Given the description of an element on the screen output the (x, y) to click on. 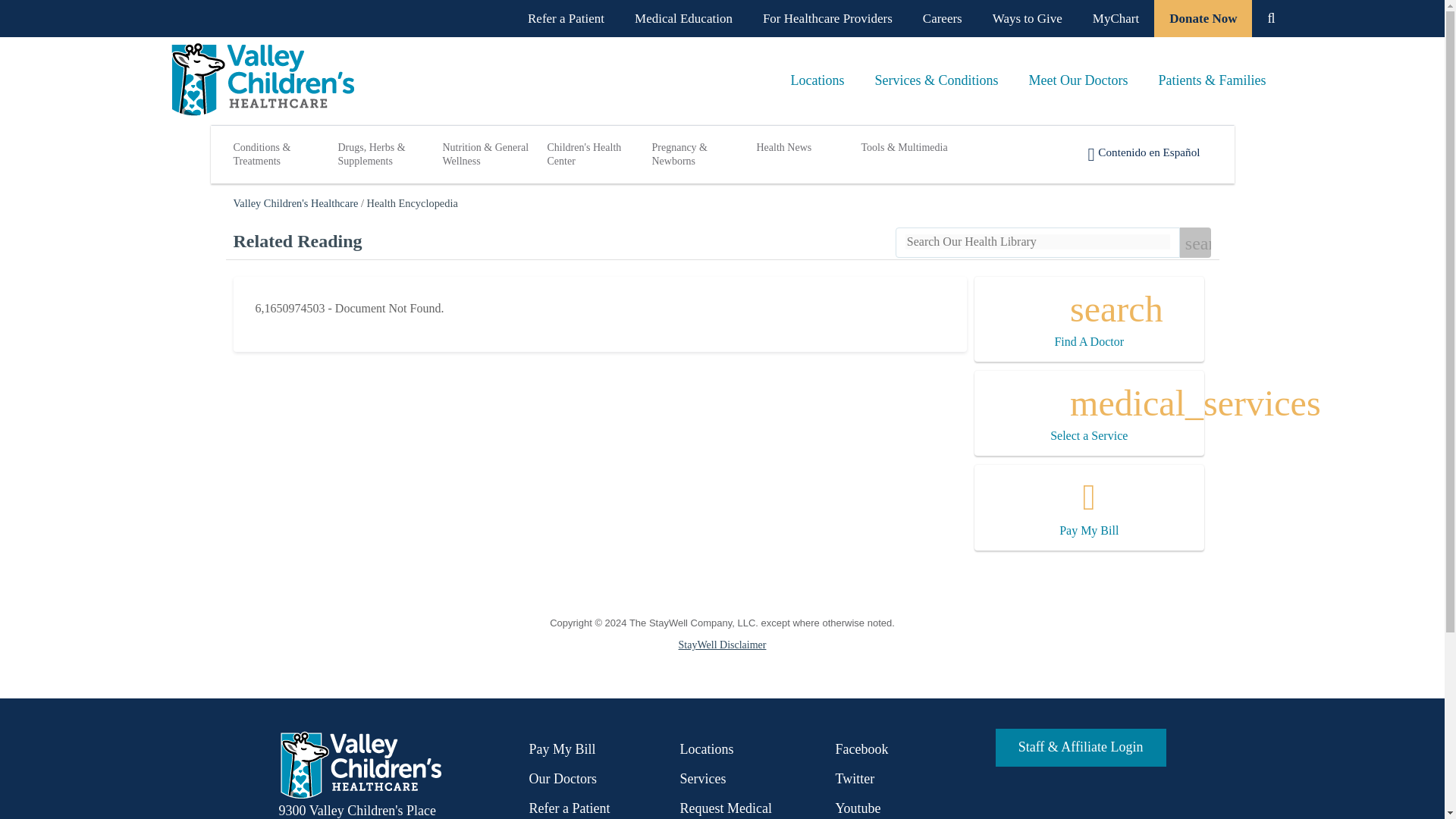
Ways to Give (1026, 18)
Refer a Patient (566, 18)
For Healthcare Providers (827, 18)
MyChart (1115, 18)
Medical Education (684, 18)
For Healthcare Providers (827, 18)
Medical Education (684, 18)
Locations (818, 80)
Careers (941, 18)
Careers - opens in a new window (941, 18)
